Given the description of an element on the screen output the (x, y) to click on. 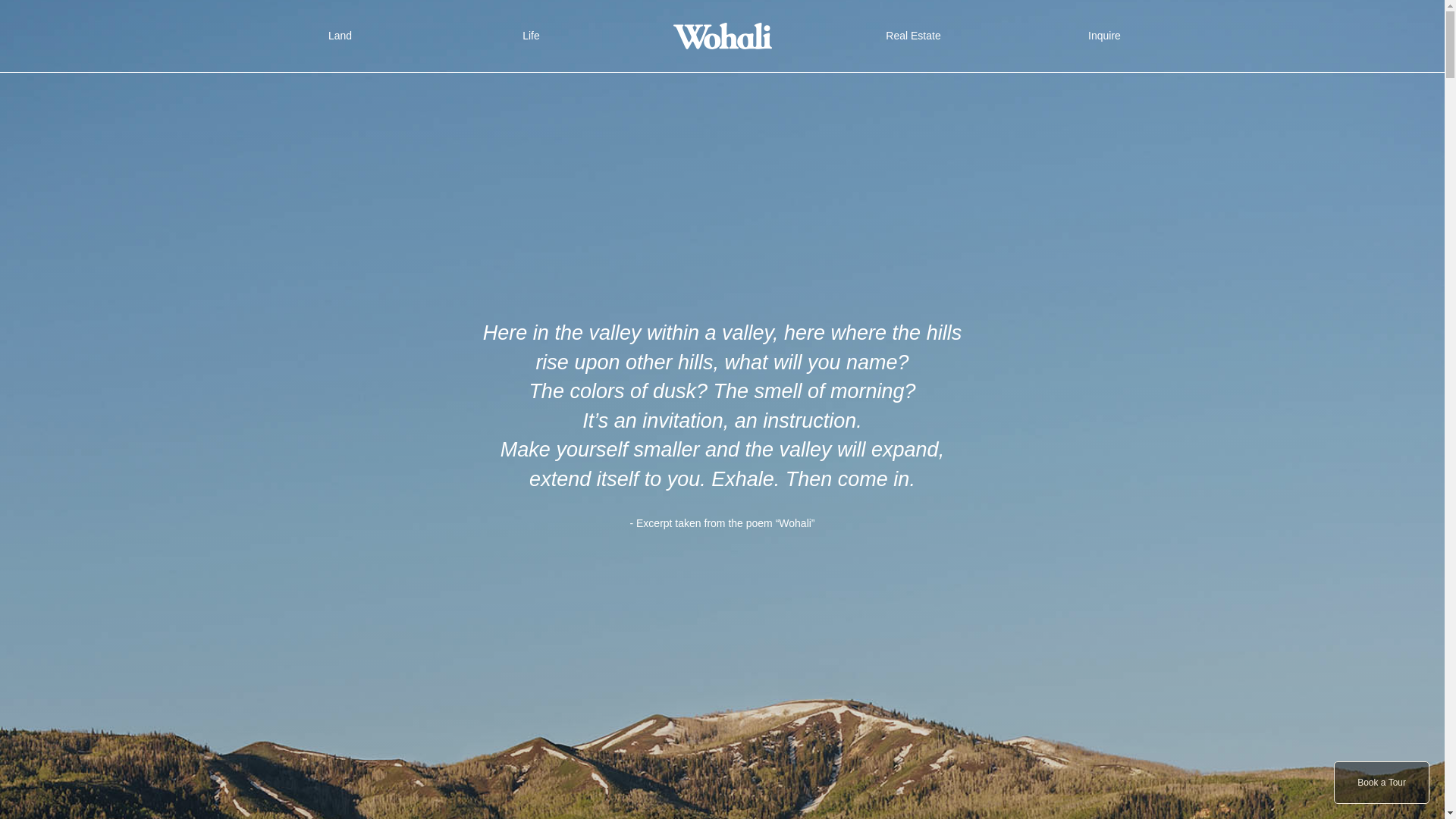
Real Estate (912, 36)
Land (339, 36)
Life (530, 36)
Book a Tour (1381, 782)
Inquire (1104, 36)
